Given the description of an element on the screen output the (x, y) to click on. 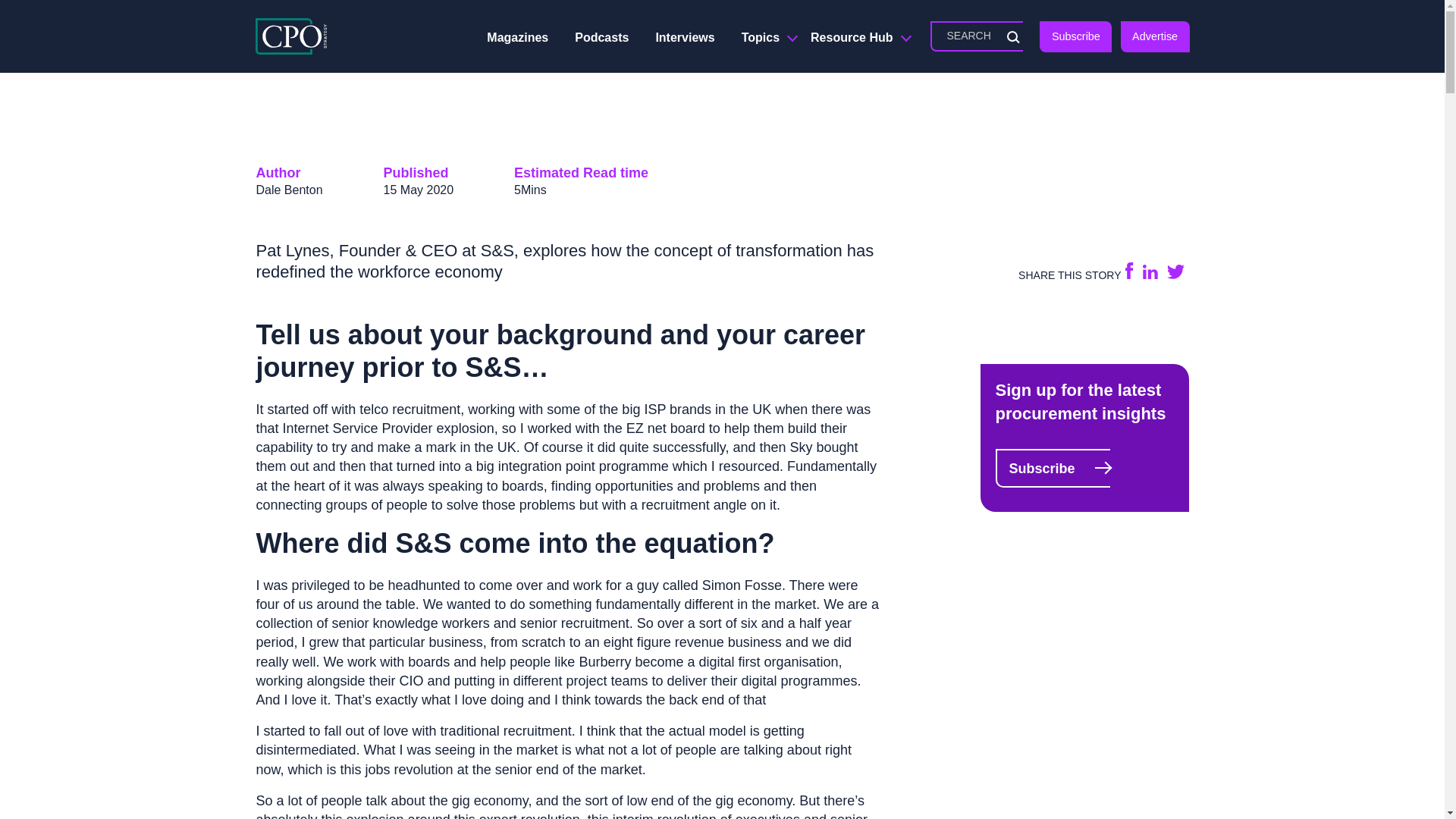
Interviews (684, 37)
Subscribe (1075, 36)
Podcasts (601, 37)
Magazines (517, 37)
Topics (762, 37)
Advertise (1155, 36)
